Given the description of an element on the screen output the (x, y) to click on. 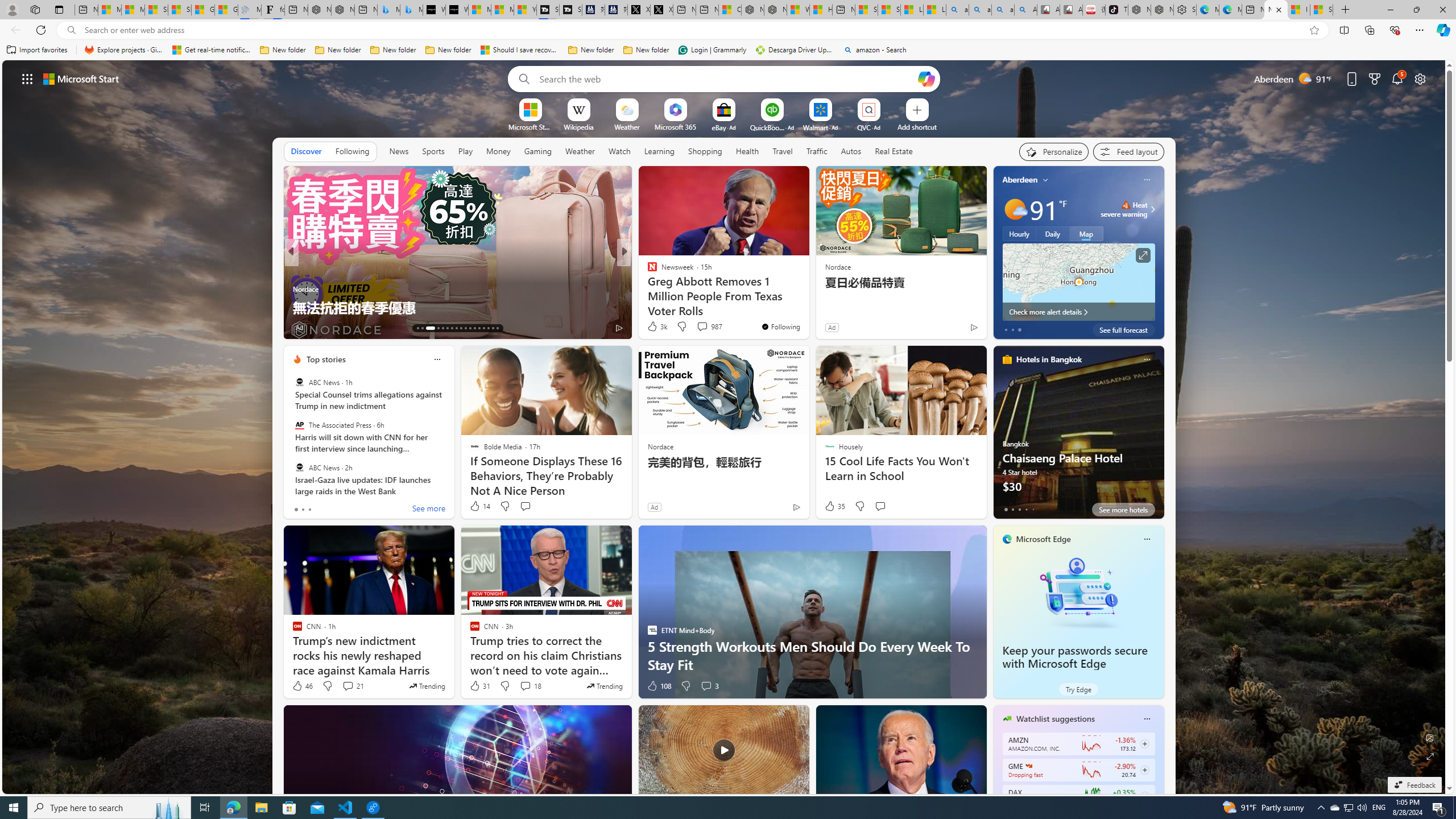
Heat - Severe Heat severe warning (1123, 208)
View comments 17 Comment (703, 327)
The Weather Channel (647, 270)
Debunking 14 Common Myths About Strength Training (807, 298)
Class: weather-arrow-glyph (1152, 208)
AutomationID: tab-28 (492, 328)
View comments 3 Comment (705, 685)
158 Like (654, 327)
Larger map  (1077, 282)
amazon - Search Images (1003, 9)
